Given the description of an element on the screen output the (x, y) to click on. 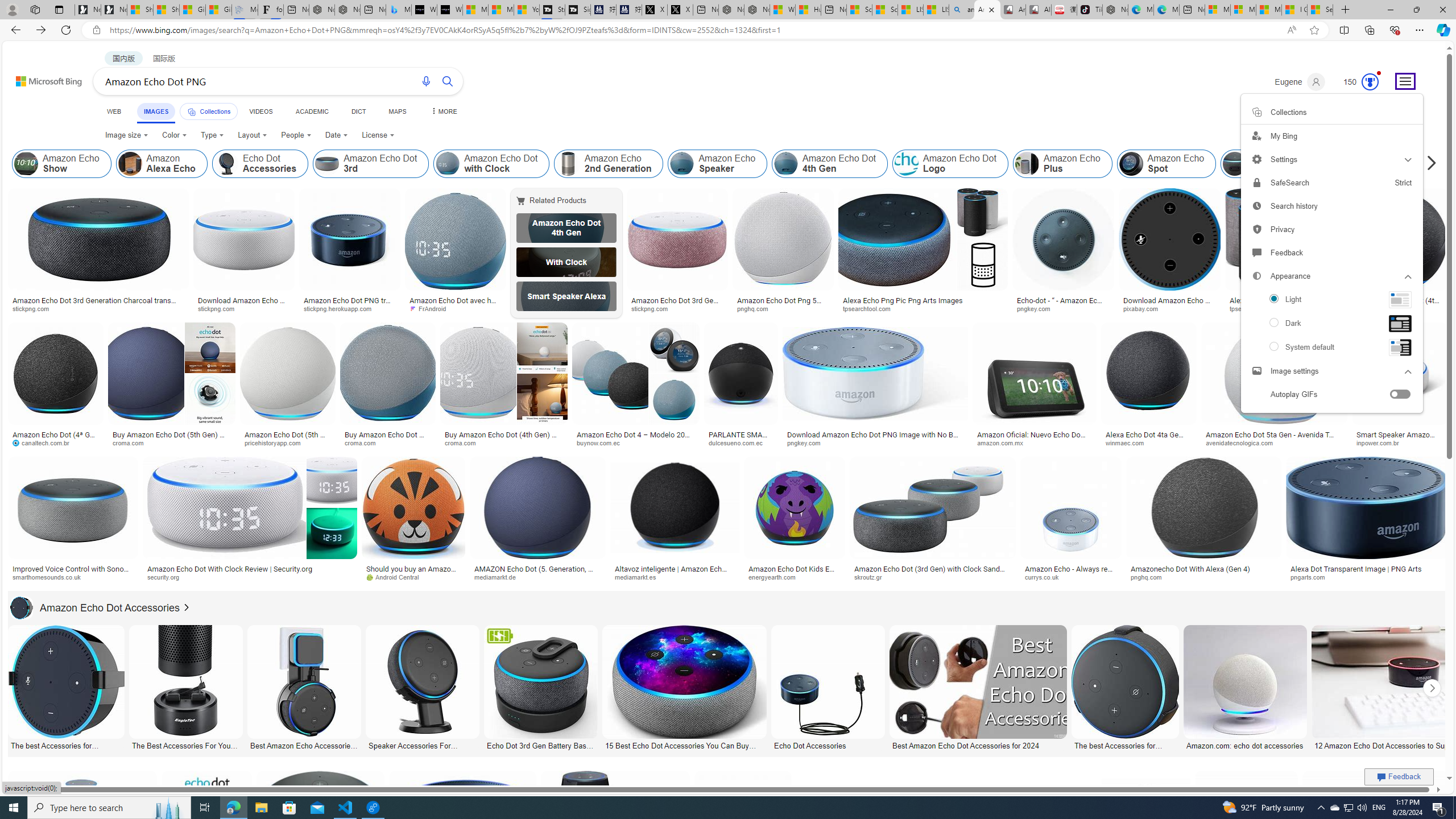
Best Amazon Echo Dot Accessories for 2024 (976, 744)
Amazon Echo Spot (1130, 163)
Alexa Dot Transparent Image | PNG Arts (1356, 568)
Date (336, 135)
Amazon Alexa Echo (129, 163)
Echo Dot Accessories Echo Dot Accessories (828, 687)
Class: outer-circle-animation (1369, 81)
Amazon Echo Dot 4th Gen (565, 227)
